Given the description of an element on the screen output the (x, y) to click on. 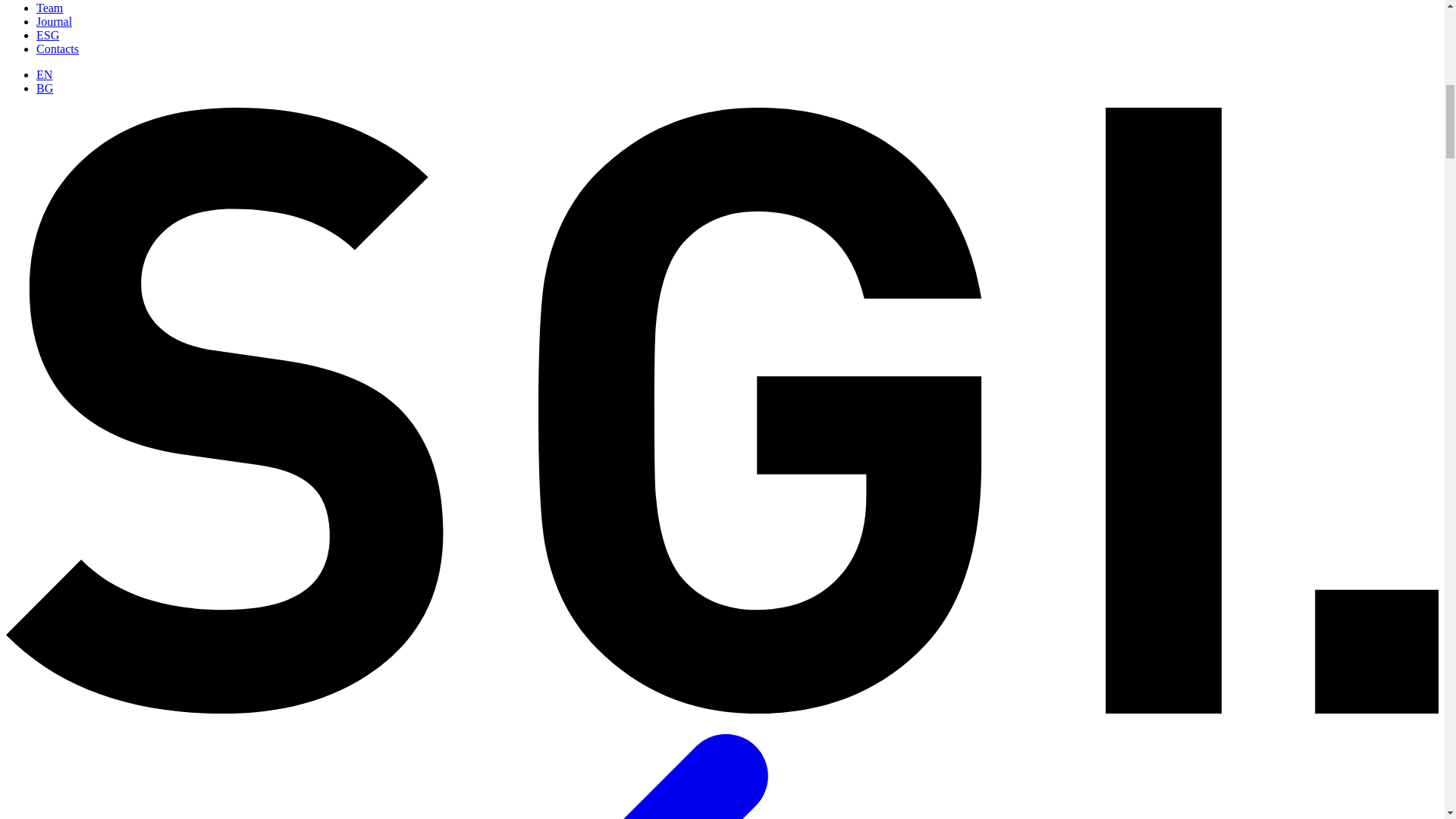
BG (44, 88)
Services (56, 0)
Team (49, 7)
Contacts (57, 48)
ESG (47, 34)
EN (44, 74)
Journal (53, 21)
